Given the description of an element on the screen output the (x, y) to click on. 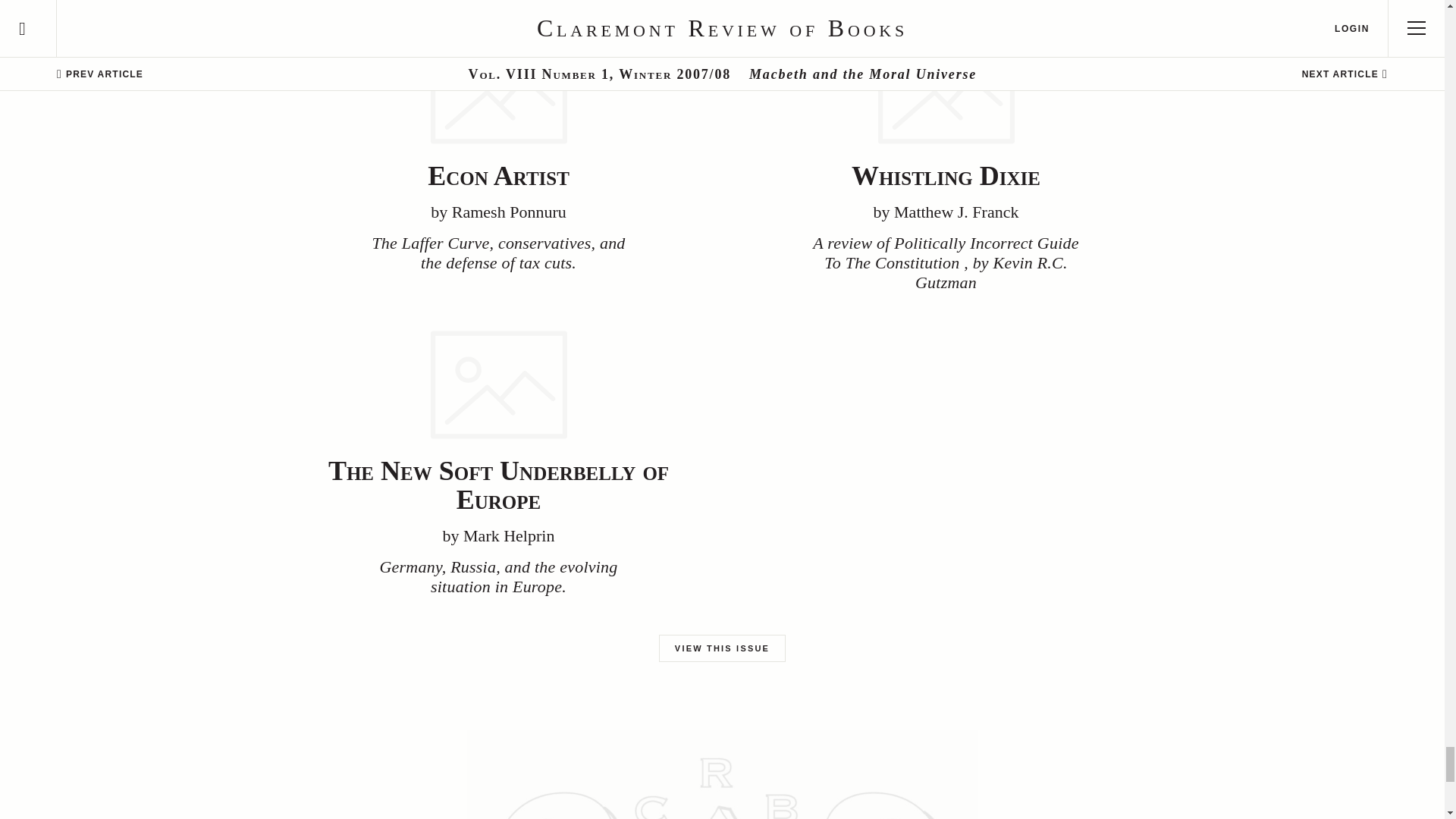
Econ Artist (498, 175)
Ramesh Ponnuru (508, 211)
Matthew J. Franck (955, 211)
winter 2008 Issue (765, 2)
Whistling Dixie (946, 175)
